Given the description of an element on the screen output the (x, y) to click on. 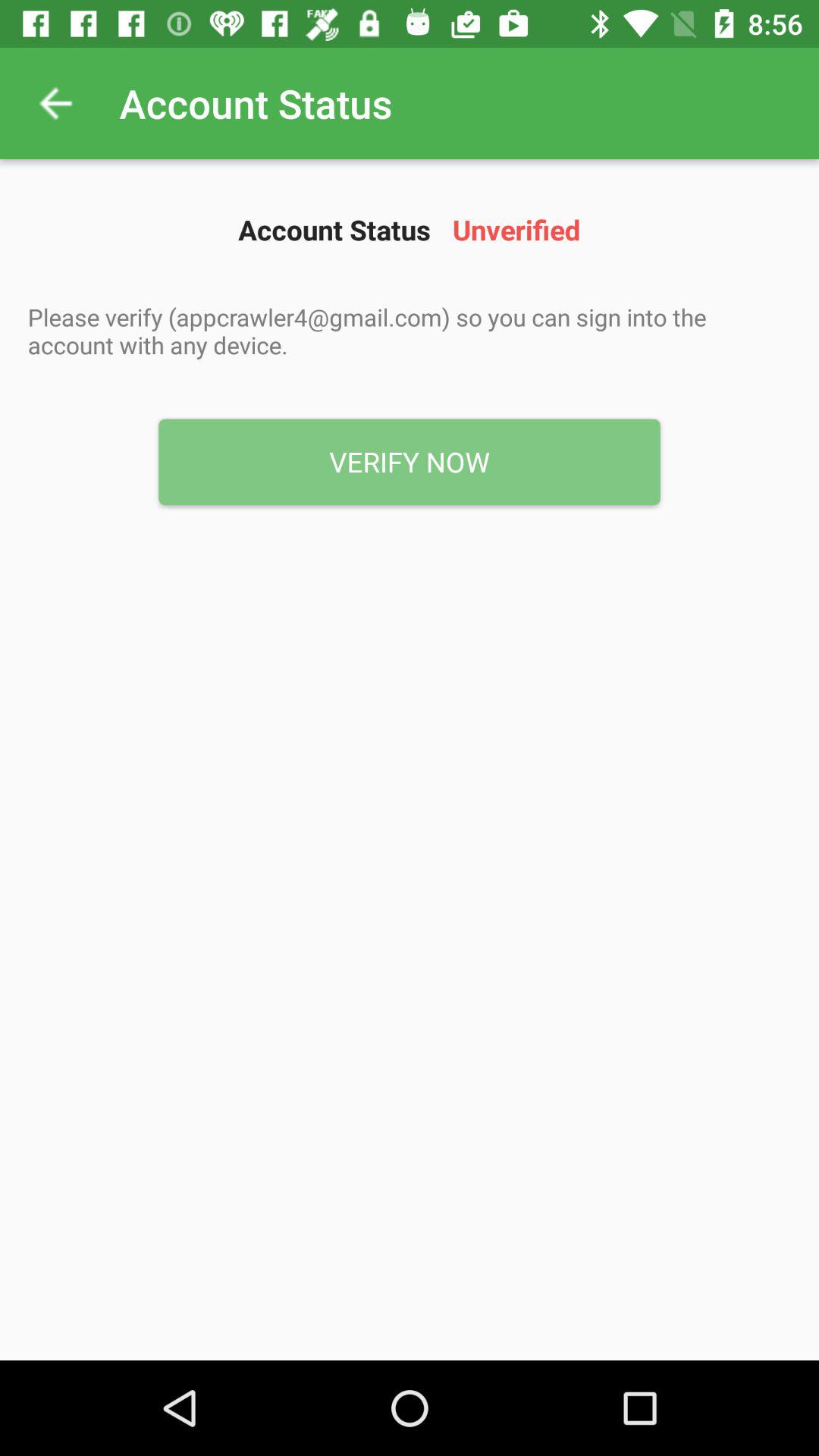
choose the verify now icon (409, 462)
